Given the description of an element on the screen output the (x, y) to click on. 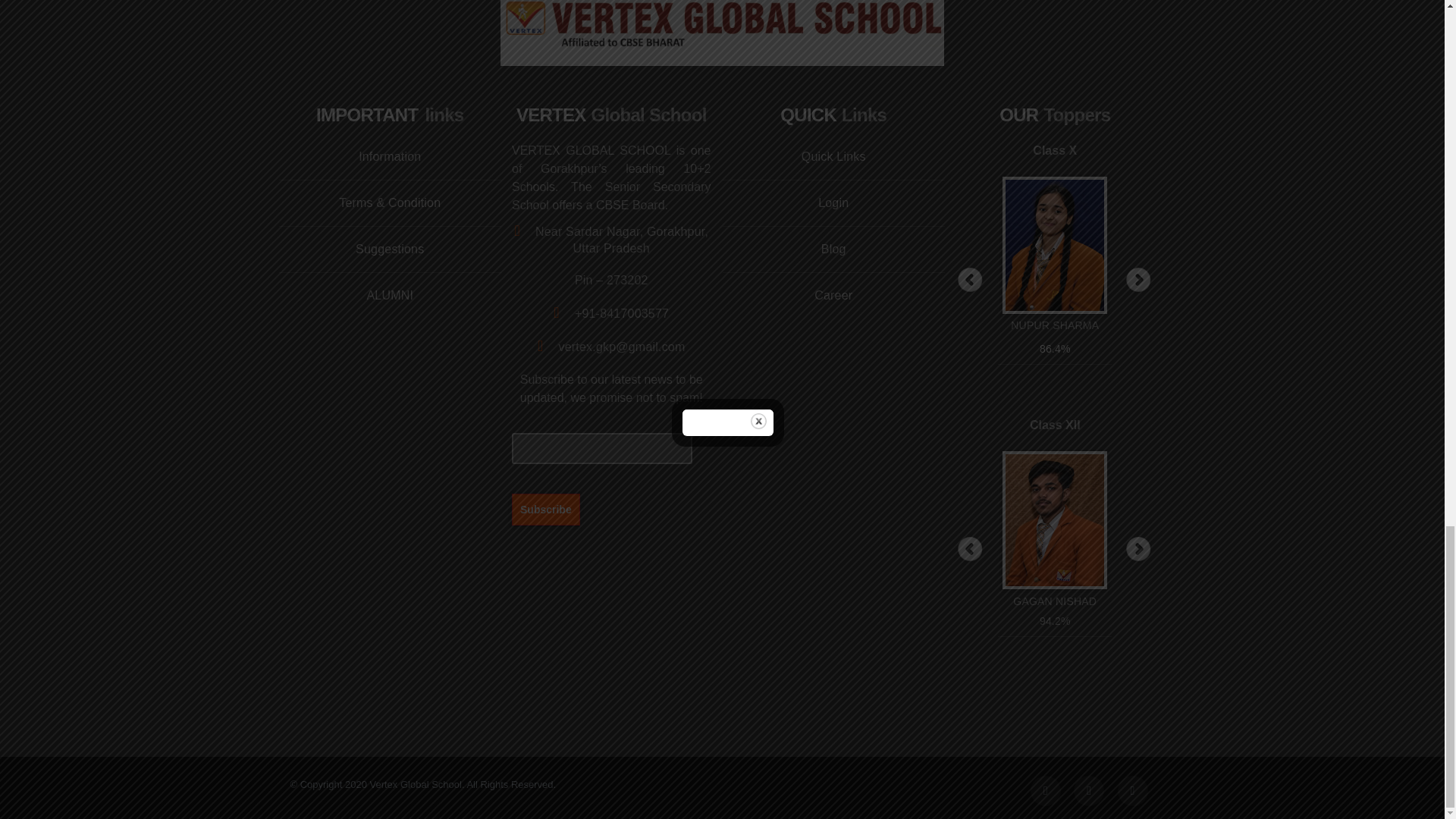
Subscribe (545, 508)
